Given the description of an element on the screen output the (x, y) to click on. 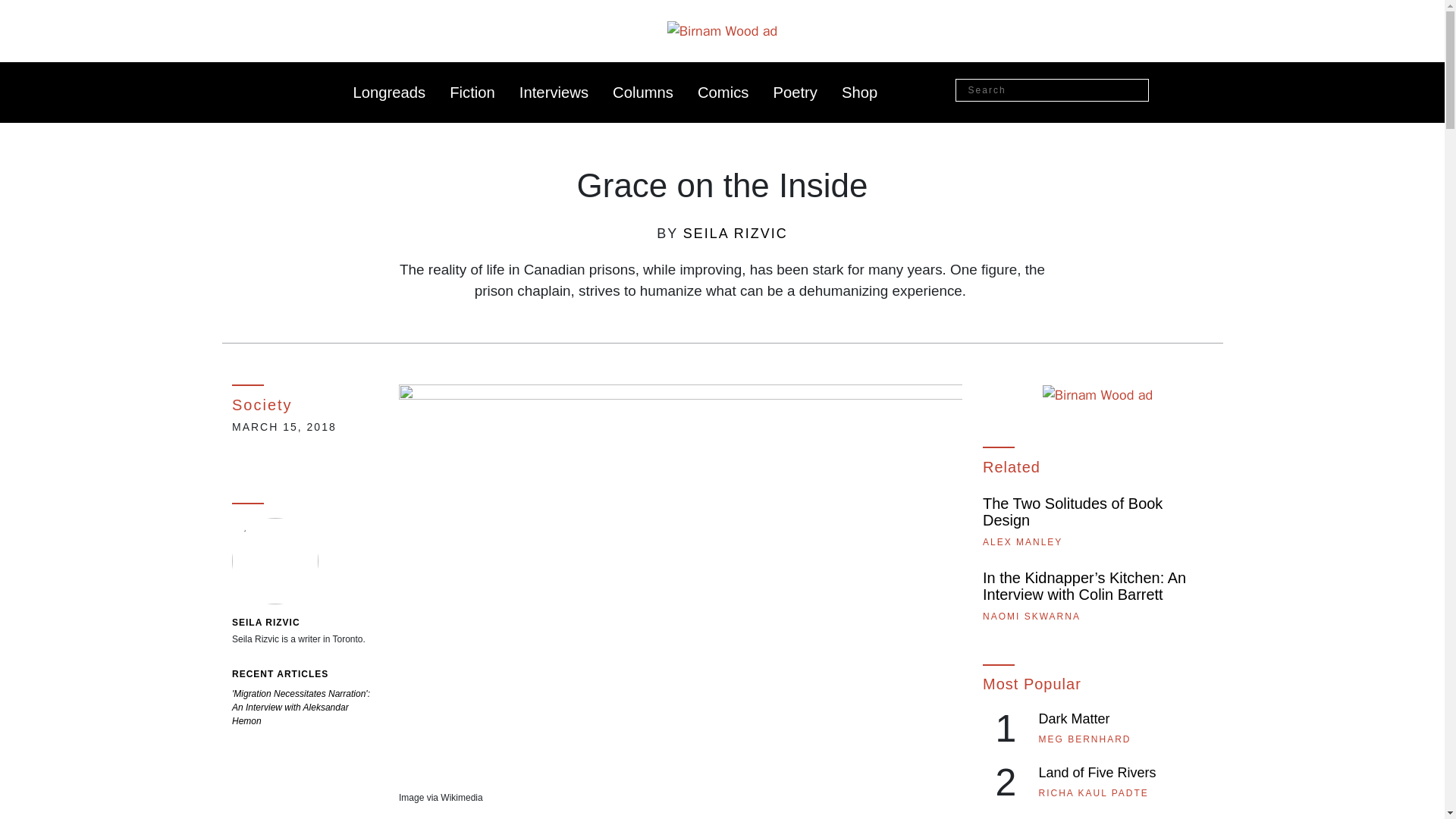
Dark Matter (1073, 718)
Facebook (1169, 87)
Longreads (389, 92)
MEG BERNHARD (1084, 738)
Poetry (794, 92)
Comics (723, 92)
Search (1136, 90)
NAOMI SKWARNA (1031, 615)
Search (1136, 90)
